Given the description of an element on the screen output the (x, y) to click on. 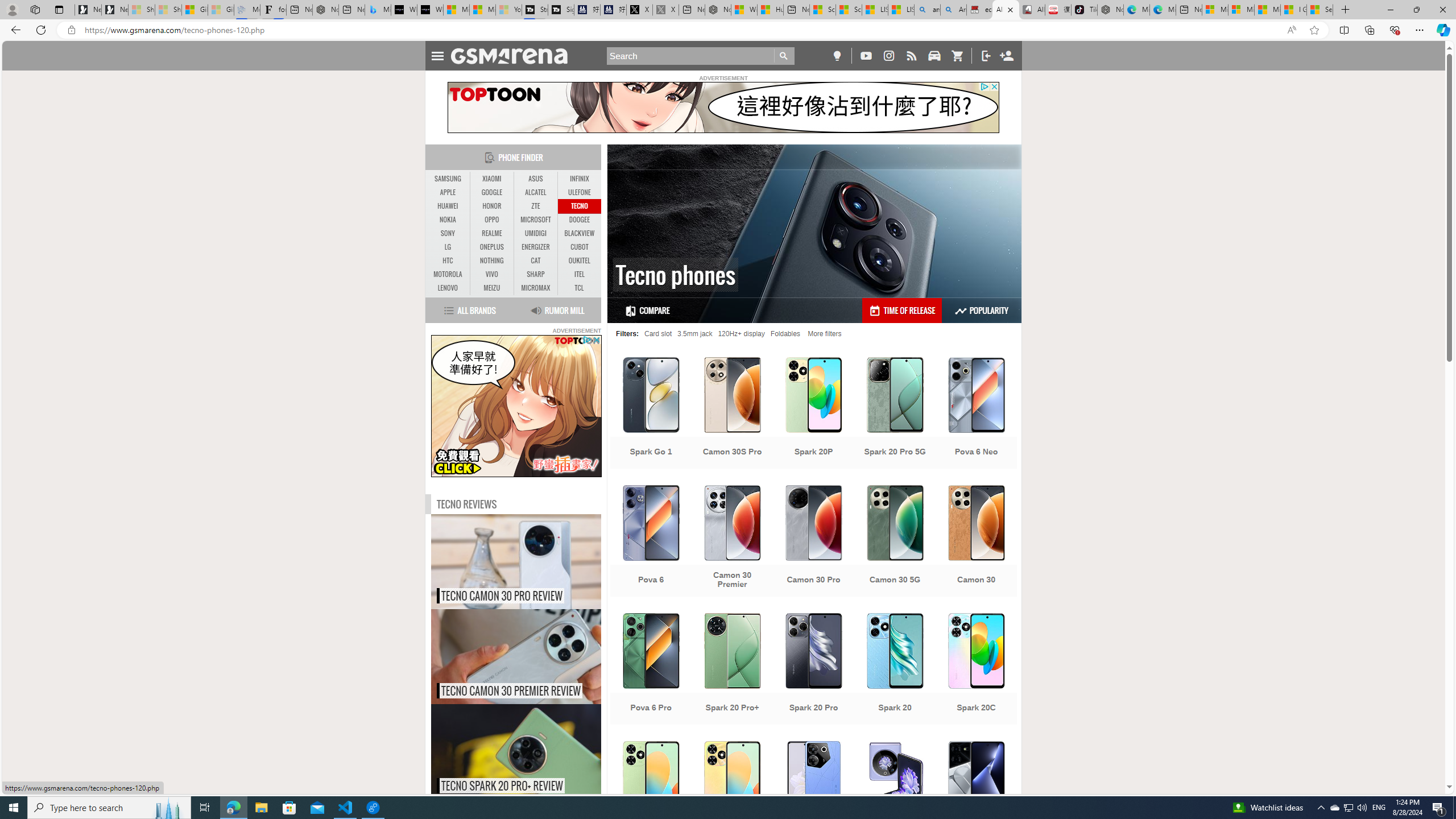
HTC (448, 260)
Newsletter Sign Up (114, 9)
ZTE (535, 206)
Spark 20 Pro+ (732, 670)
Tecno Camon 30 Premier review TECNO CAMON 30 PREMIER REVIEW (515, 656)
Pova 6 Pro (650, 670)
Close (1442, 9)
ENERGIZER (535, 246)
CAT (535, 260)
SONY (448, 233)
